Given the description of an element on the screen output the (x, y) to click on. 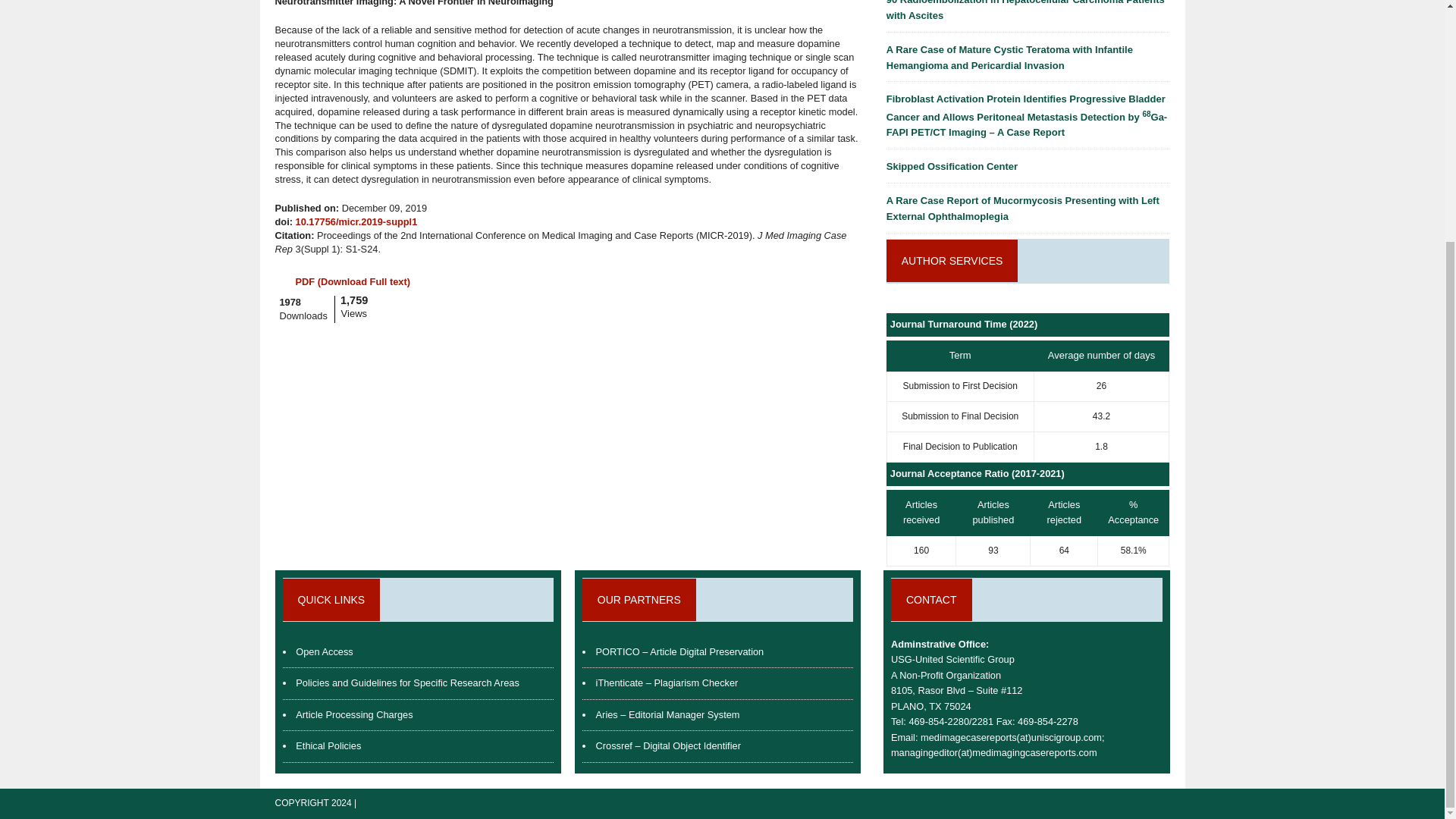
Ethical Policies (328, 745)
Policies and Guidelines for Specific Research Areas (406, 682)
Skipped Ossification Center (951, 165)
Open Access (323, 651)
Article Processing Charges (353, 714)
